Given the description of an element on the screen output the (x, y) to click on. 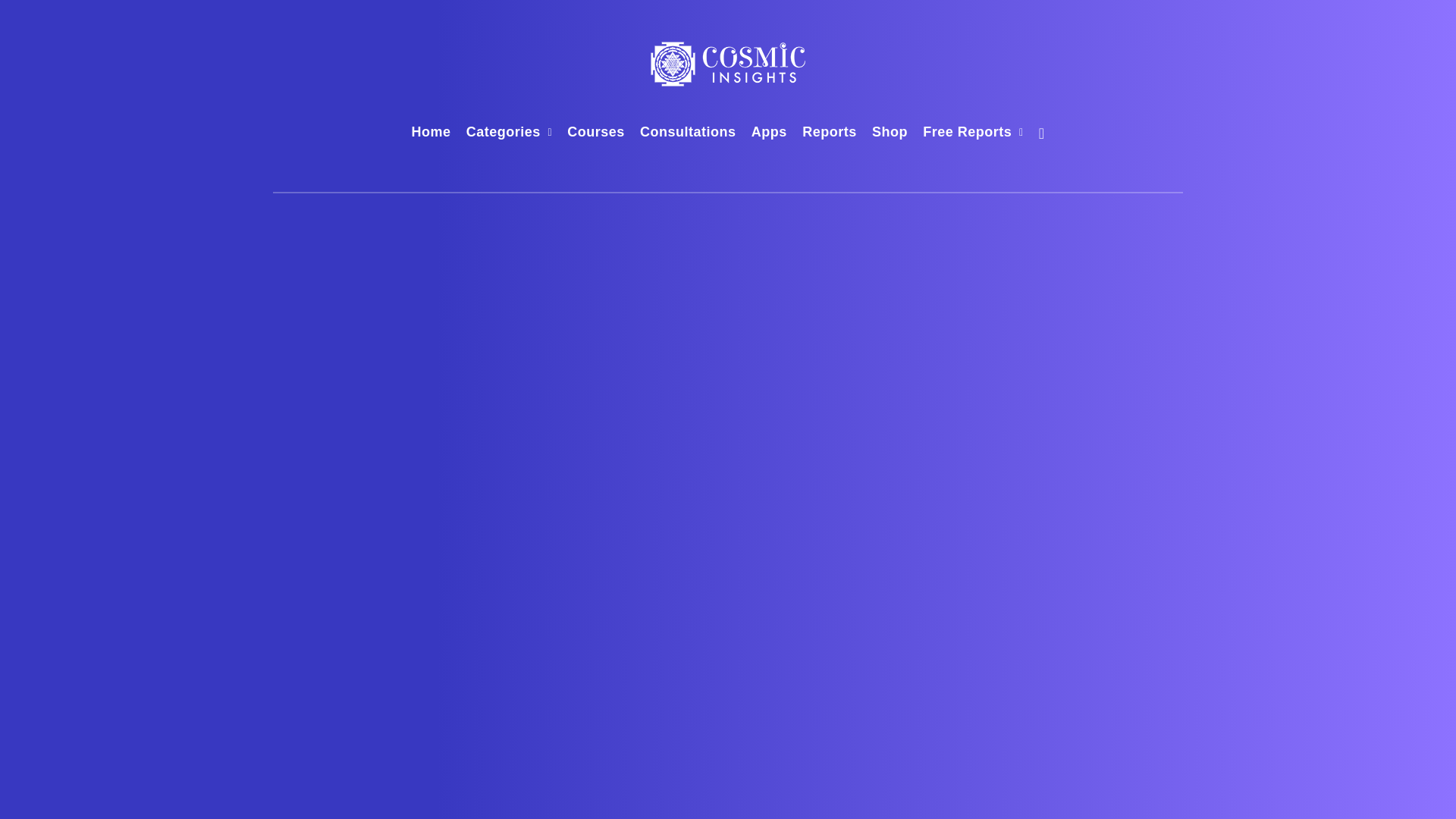
Consultations (688, 133)
Courses (595, 133)
Shop (889, 133)
Free Reports (967, 133)
Categories (502, 133)
Reports (829, 133)
Home (431, 133)
Apps (769, 133)
